Given the description of an element on the screen output the (x, y) to click on. 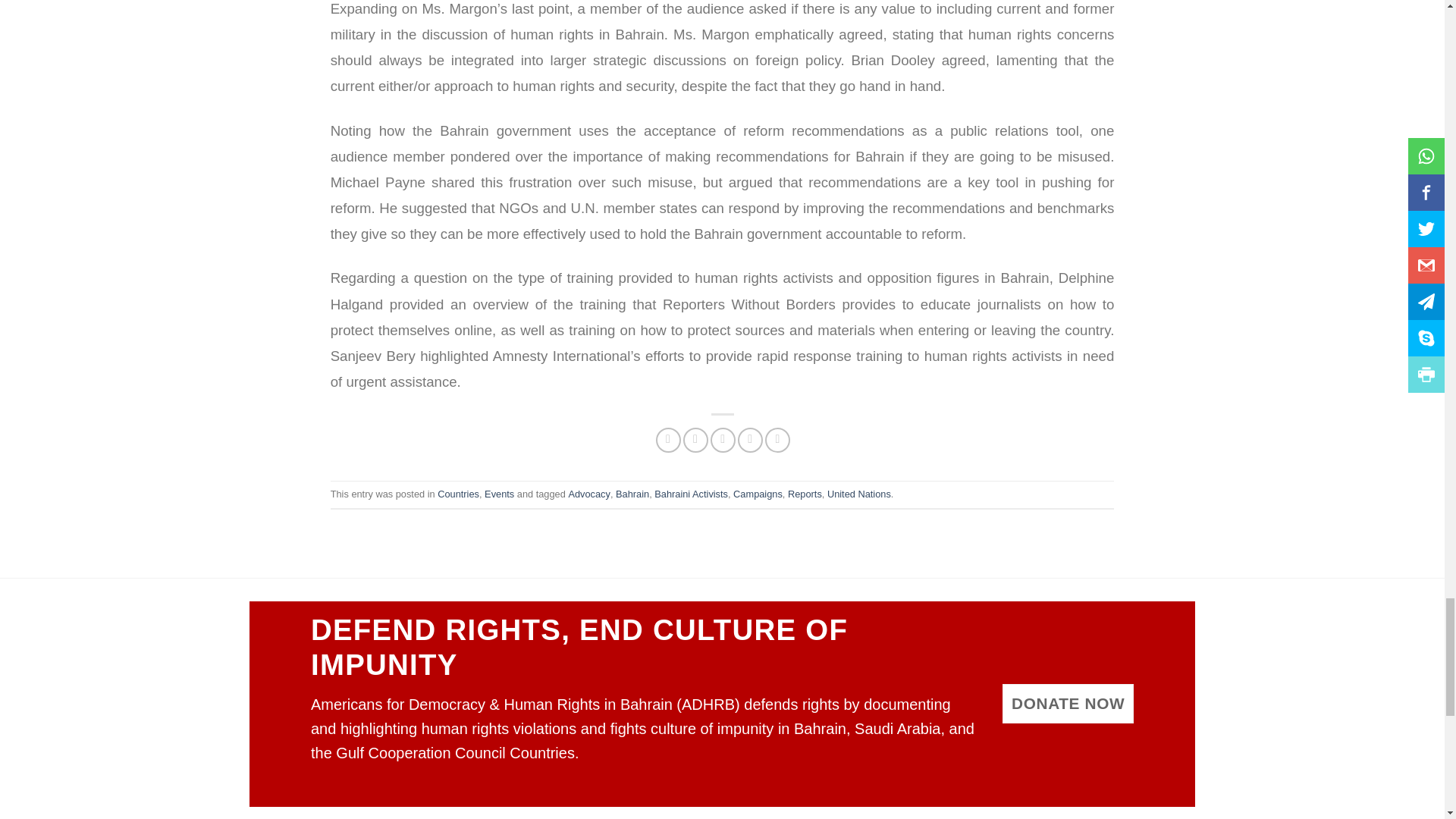
Share on LinkedIn (777, 439)
Pin on Pinterest (750, 439)
Share on Twitter (694, 439)
Email to a Friend (722, 439)
Share on Facebook (668, 439)
